Given the description of an element on the screen output the (x, y) to click on. 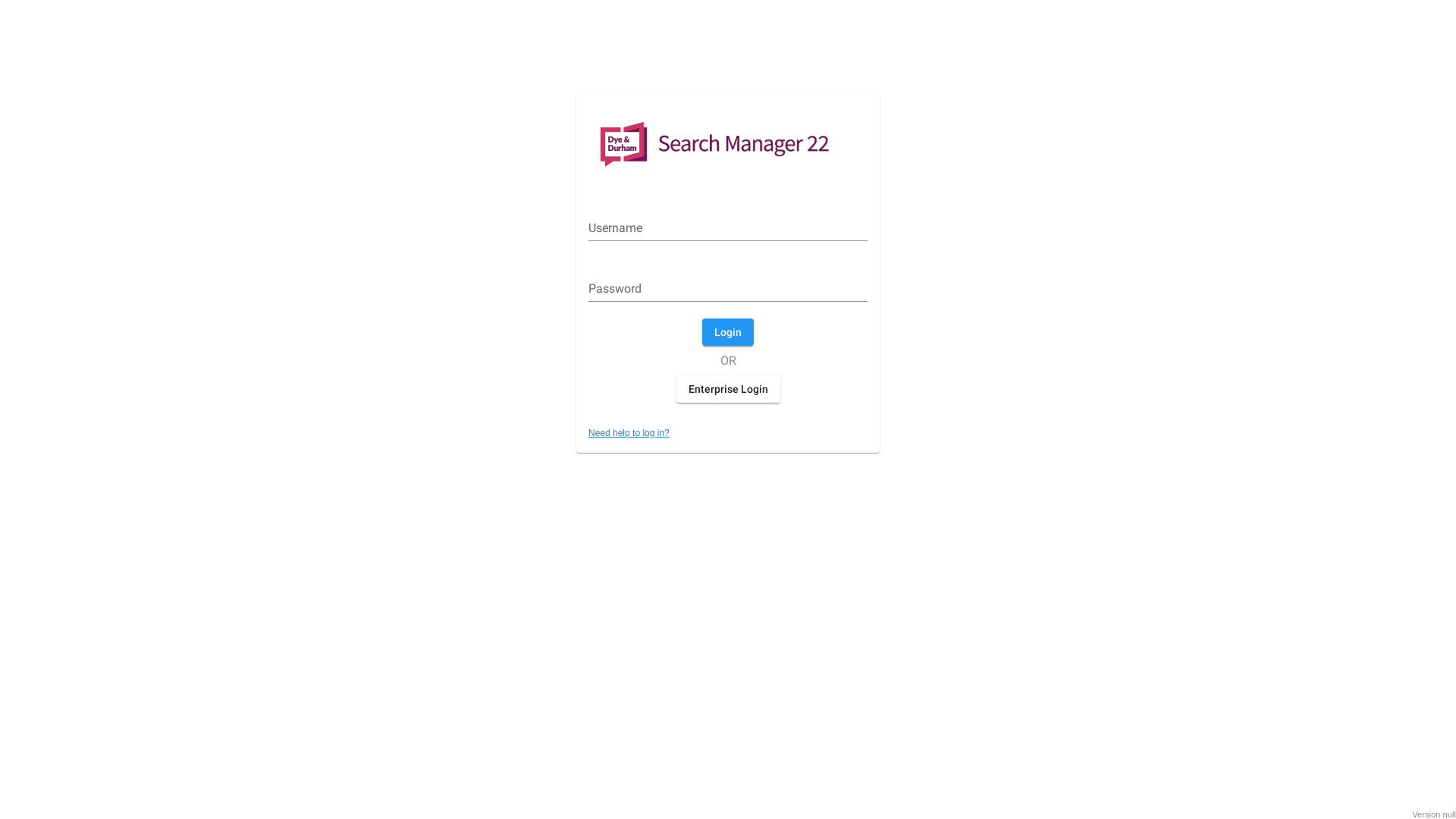
Enterprise Login Element type: text (728, 387)
Need help to log in? Element type: text (628, 432)
Login Element type: text (727, 331)
